Given the description of an element on the screen output the (x, y) to click on. 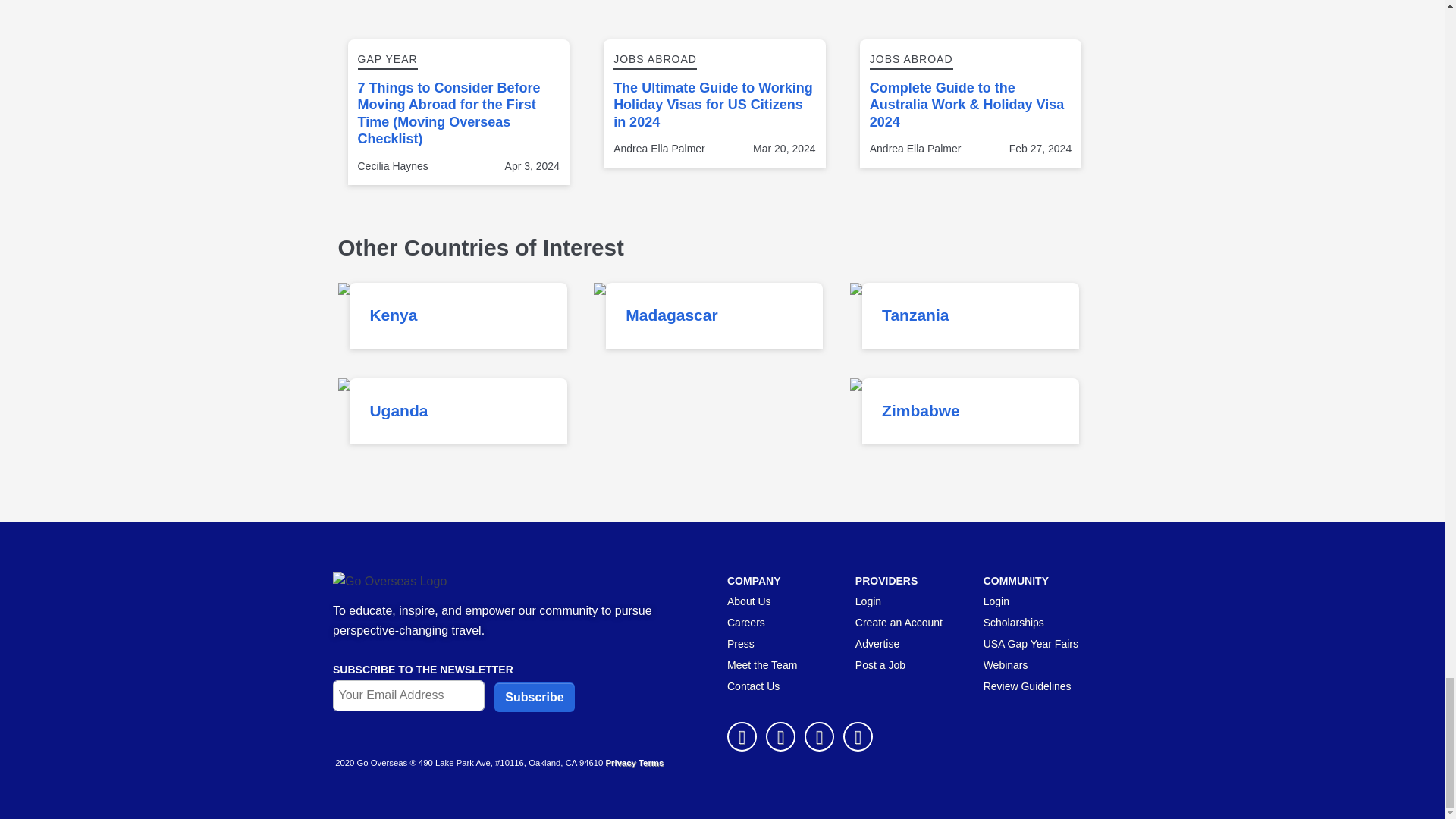
Subscribe (534, 696)
Gap Year in Kenya (374, 292)
